Given the description of an element on the screen output the (x, y) to click on. 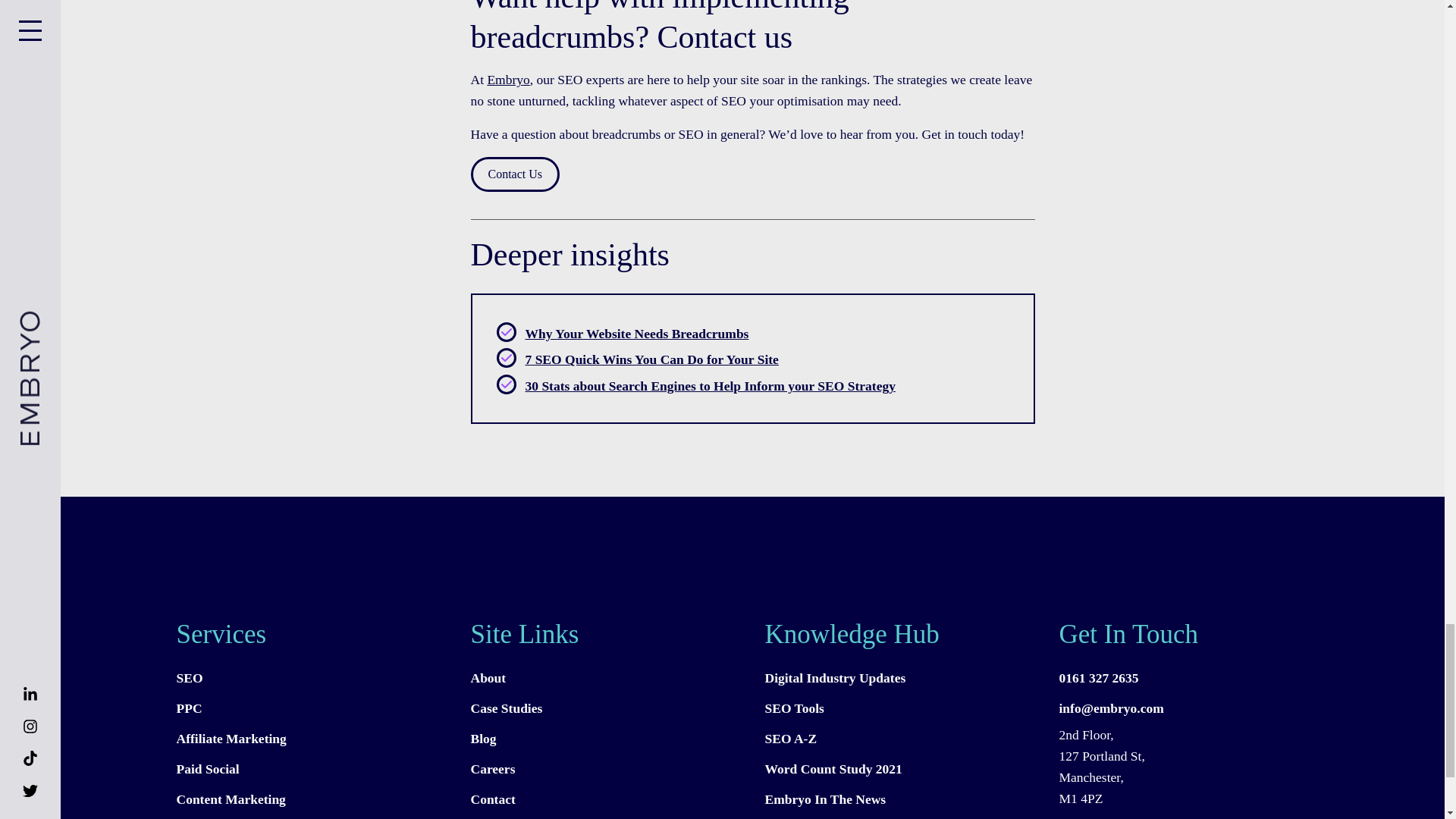
Why Your Website Needs Breadcrumbs (636, 333)
Digital Industry Updates (899, 678)
Affiliate Marketing (310, 738)
Digital PR (310, 816)
Paid Social (310, 769)
SEO (310, 678)
SEO Tools (899, 708)
Embryo In The News (899, 798)
7 SEO Quick Wins You Can Do for Your Site (650, 359)
